Given the description of an element on the screen output the (x, y) to click on. 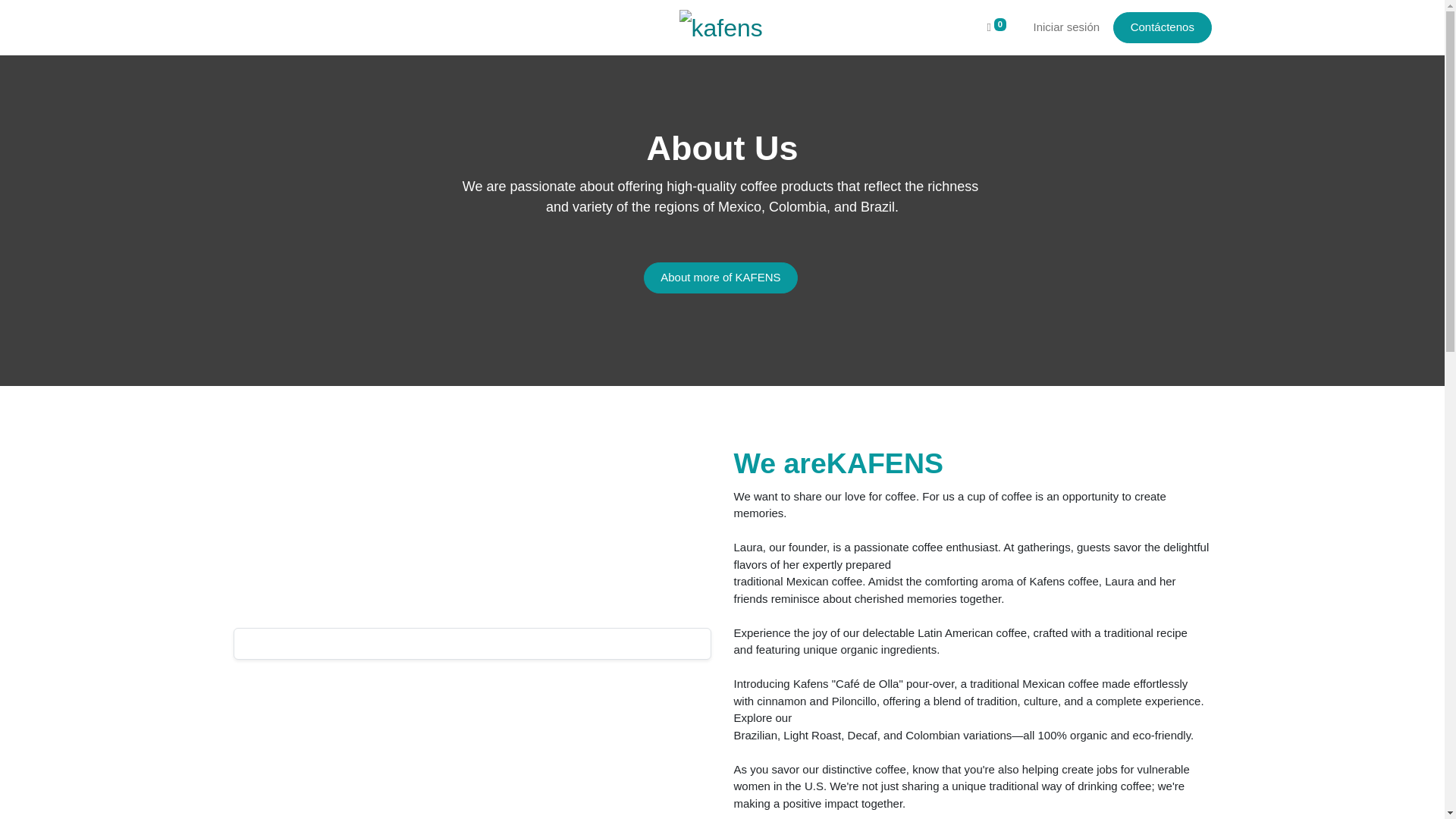
About more of KAFENS (720, 277)
kafens (722, 27)
0 (996, 27)
